Given the description of an element on the screen output the (x, y) to click on. 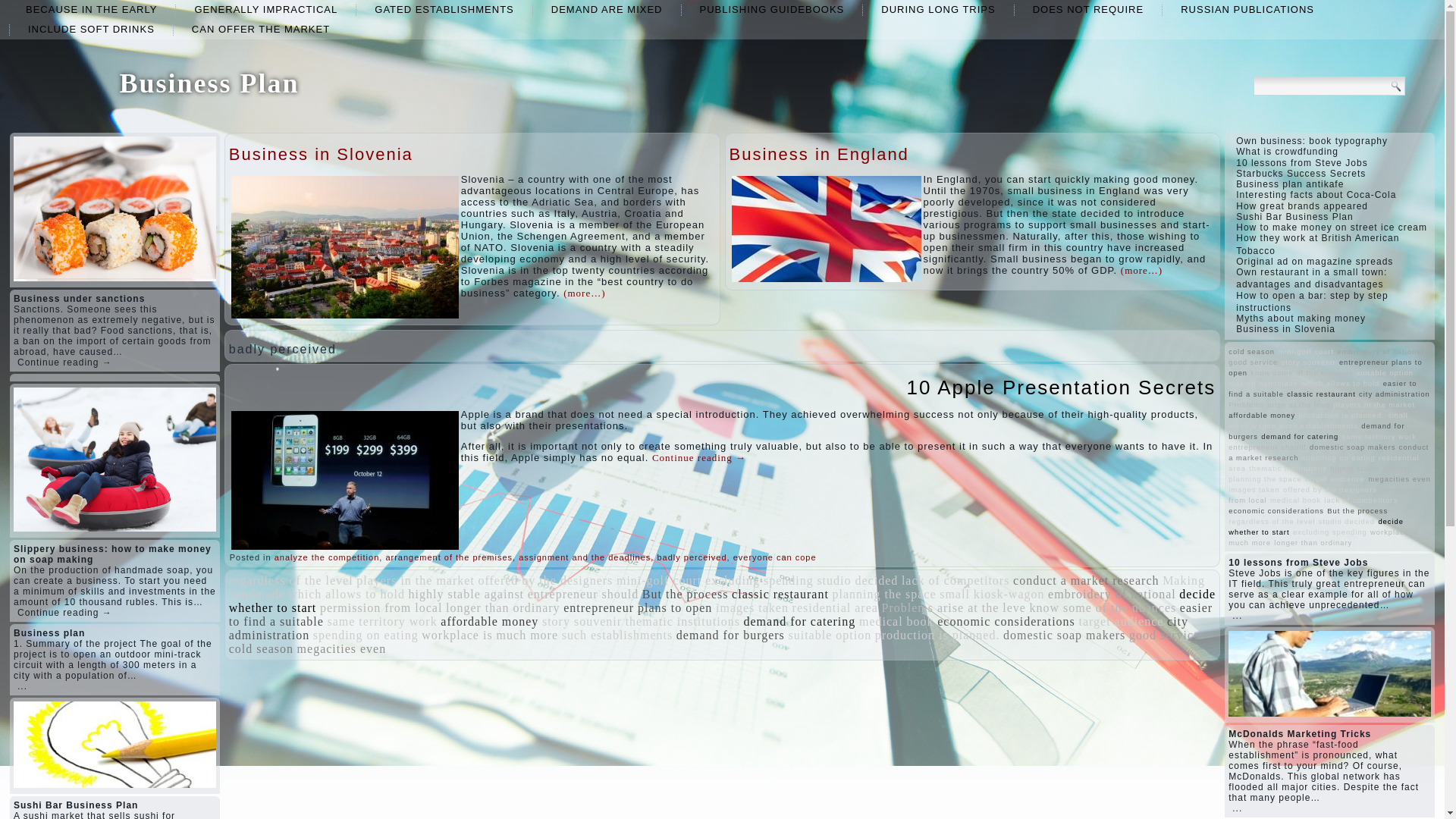
mini-golf court (658, 580)
PUBLISHING GUIDEBOOKS (771, 9)
... (22, 685)
because in the early (90, 9)
1 topics (290, 580)
RUSSIAN PUBLICATIONS (1246, 9)
assignment and the deadlines (584, 556)
Russian publications (1246, 9)
GENERALLY IMPRACTICAL (265, 9)
does not require (1088, 9)
